Given the description of an element on the screen output the (x, y) to click on. 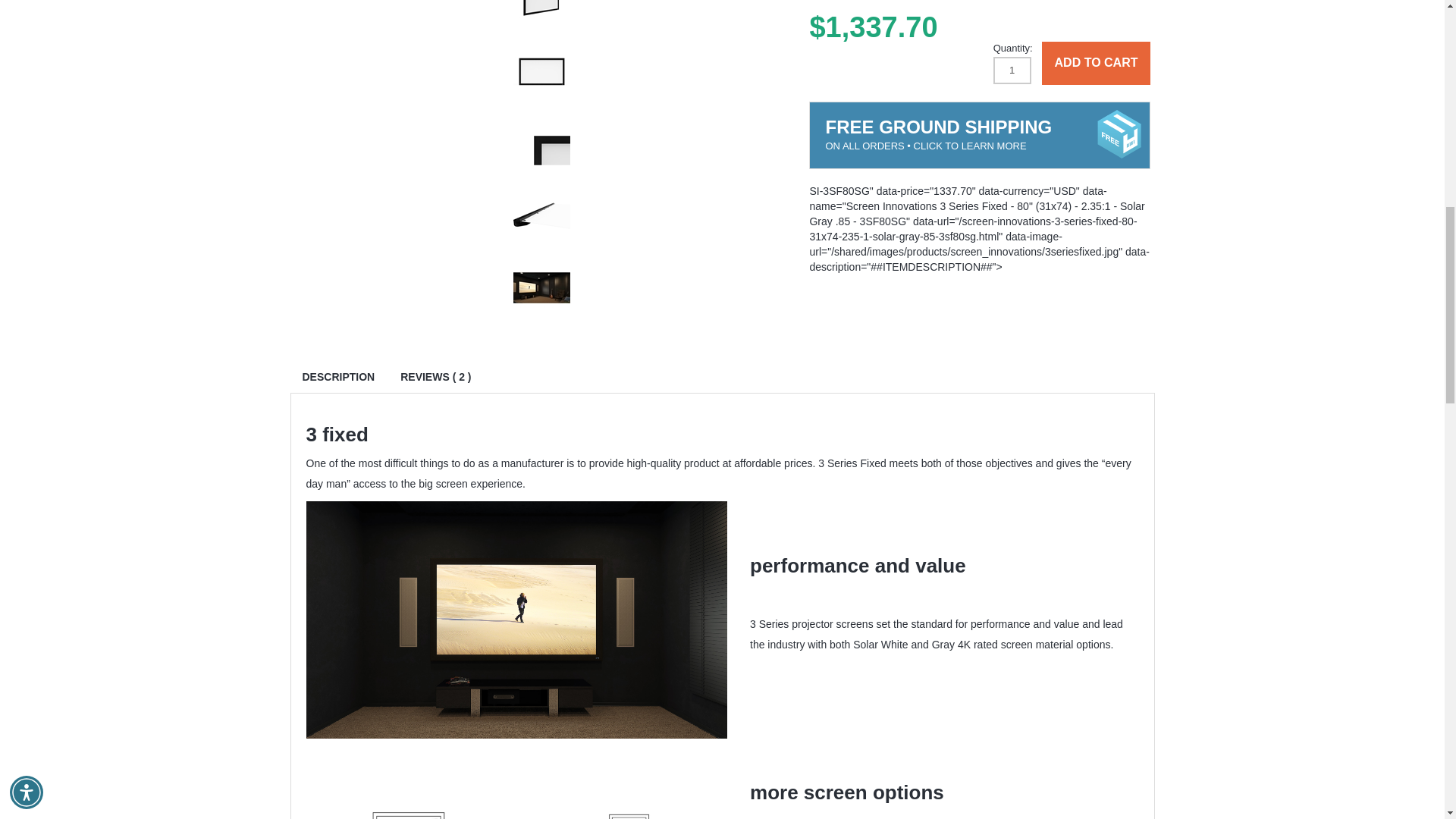
Add to Cart (1096, 63)
1 (1011, 70)
